Given the description of an element on the screen output the (x, y) to click on. 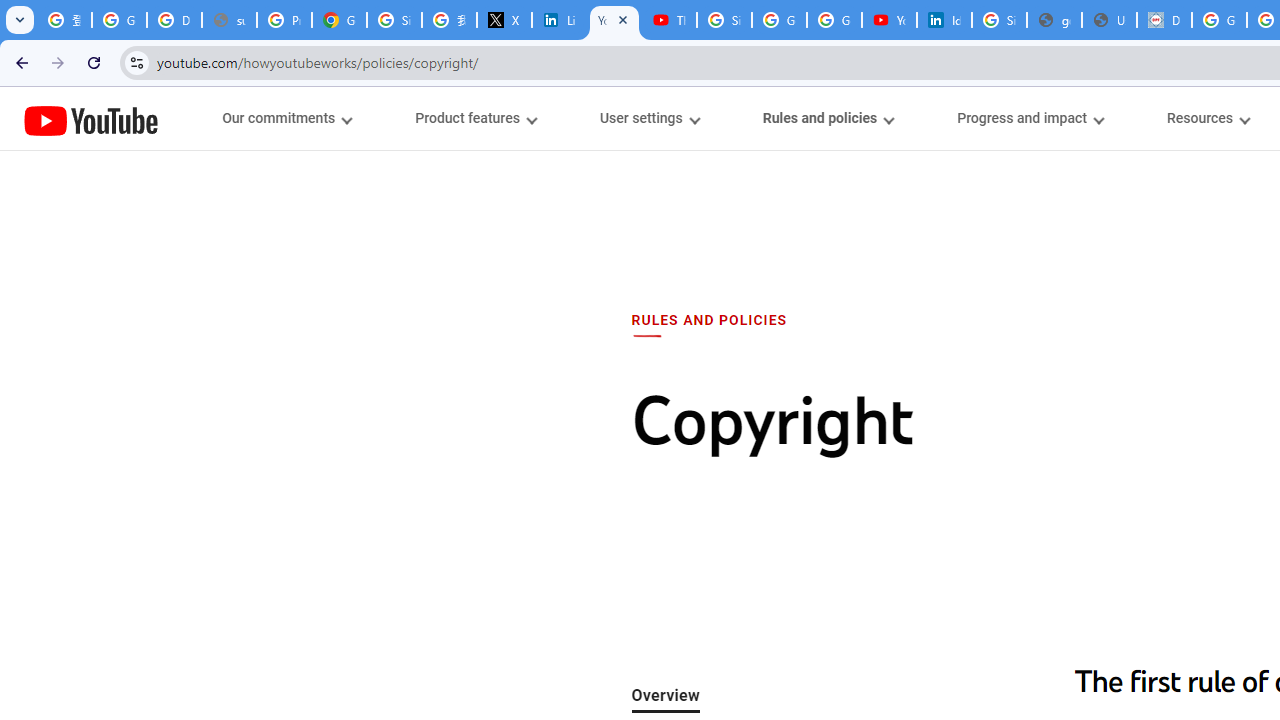
YouTube Copyright Rules & Policies - How YouTube Works (614, 20)
Product features menupopup (475, 118)
Sign in - Google Accounts (394, 20)
google_privacy_policy_en.pdf (1053, 20)
Privacy Help Center - Policies Help (284, 20)
User Details (1108, 20)
Progress and impact menupopup (1030, 118)
JUMP TO CONTENT (209, 119)
